Given the description of an element on the screen output the (x, y) to click on. 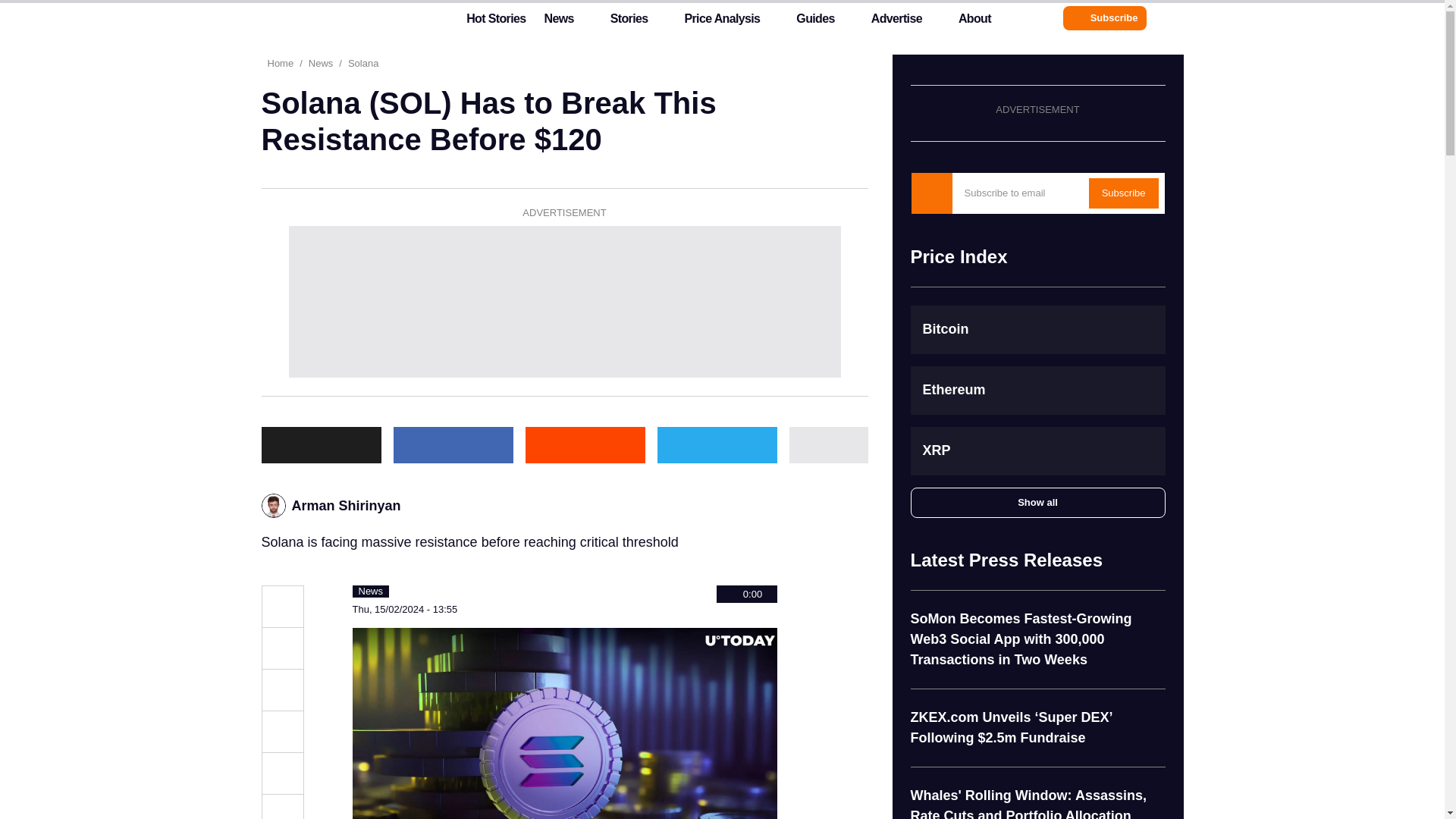
Share to Telegram (716, 444)
U.Today logo (331, 17)
Share to Facebook (452, 444)
Share to X (281, 648)
Share to Facebook (281, 690)
Share to Reddit (584, 444)
Hot Stories (486, 22)
Share to Reddit (281, 731)
Share to X (320, 444)
News (558, 22)
Share to Telegram (281, 773)
Stories (628, 22)
